Given the description of an element on the screen output the (x, y) to click on. 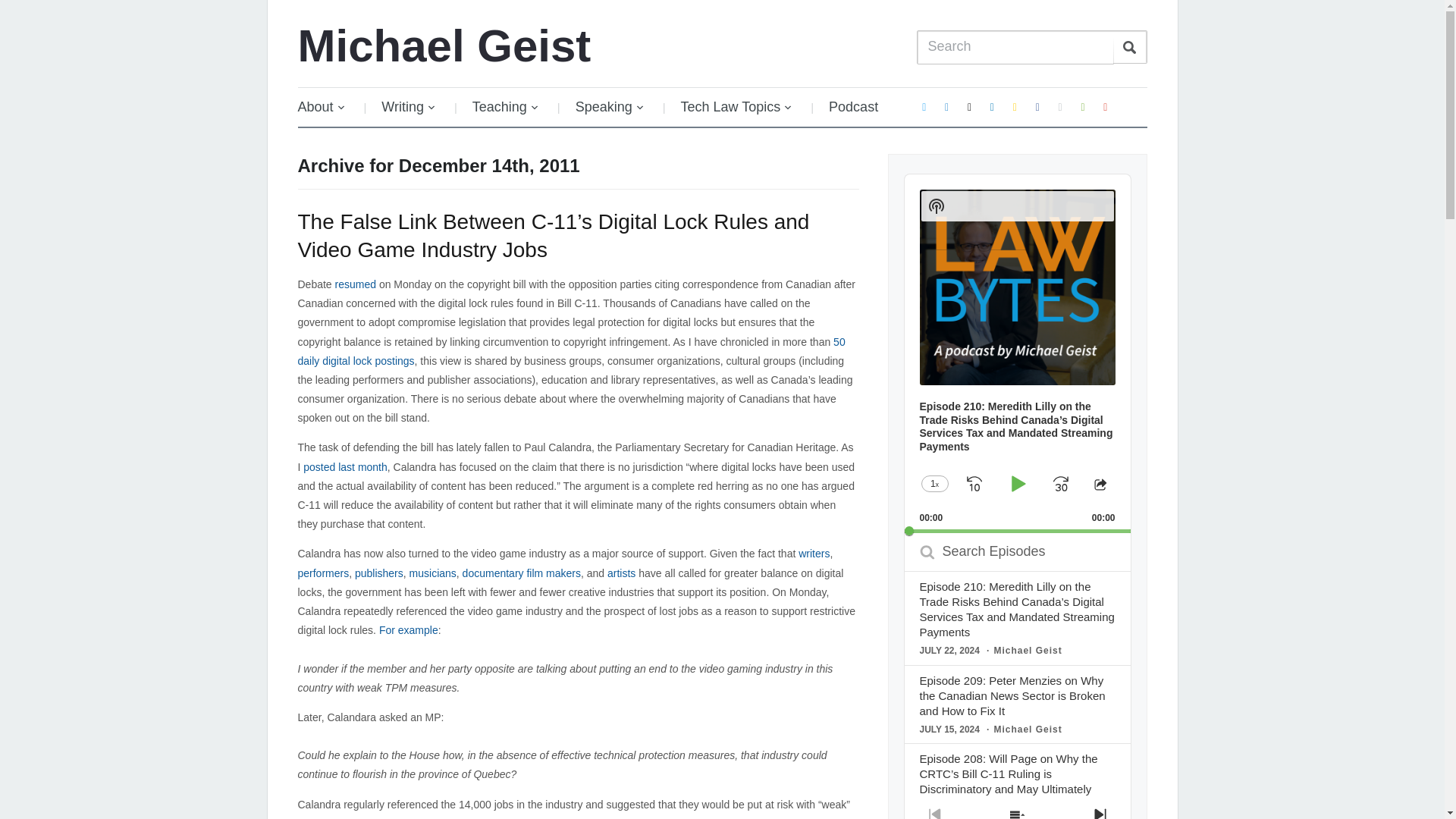
Search (1130, 46)
Teaching (505, 106)
Michael Geist (444, 45)
Default Label (946, 106)
Speaking (609, 106)
Search (1130, 46)
Default Label (991, 106)
Default Label (1014, 106)
Twitter (924, 106)
Podcast (853, 106)
mastodon (946, 106)
Writing (408, 106)
twitter (924, 106)
Default Label (1082, 106)
mail (969, 106)
